Given the description of an element on the screen output the (x, y) to click on. 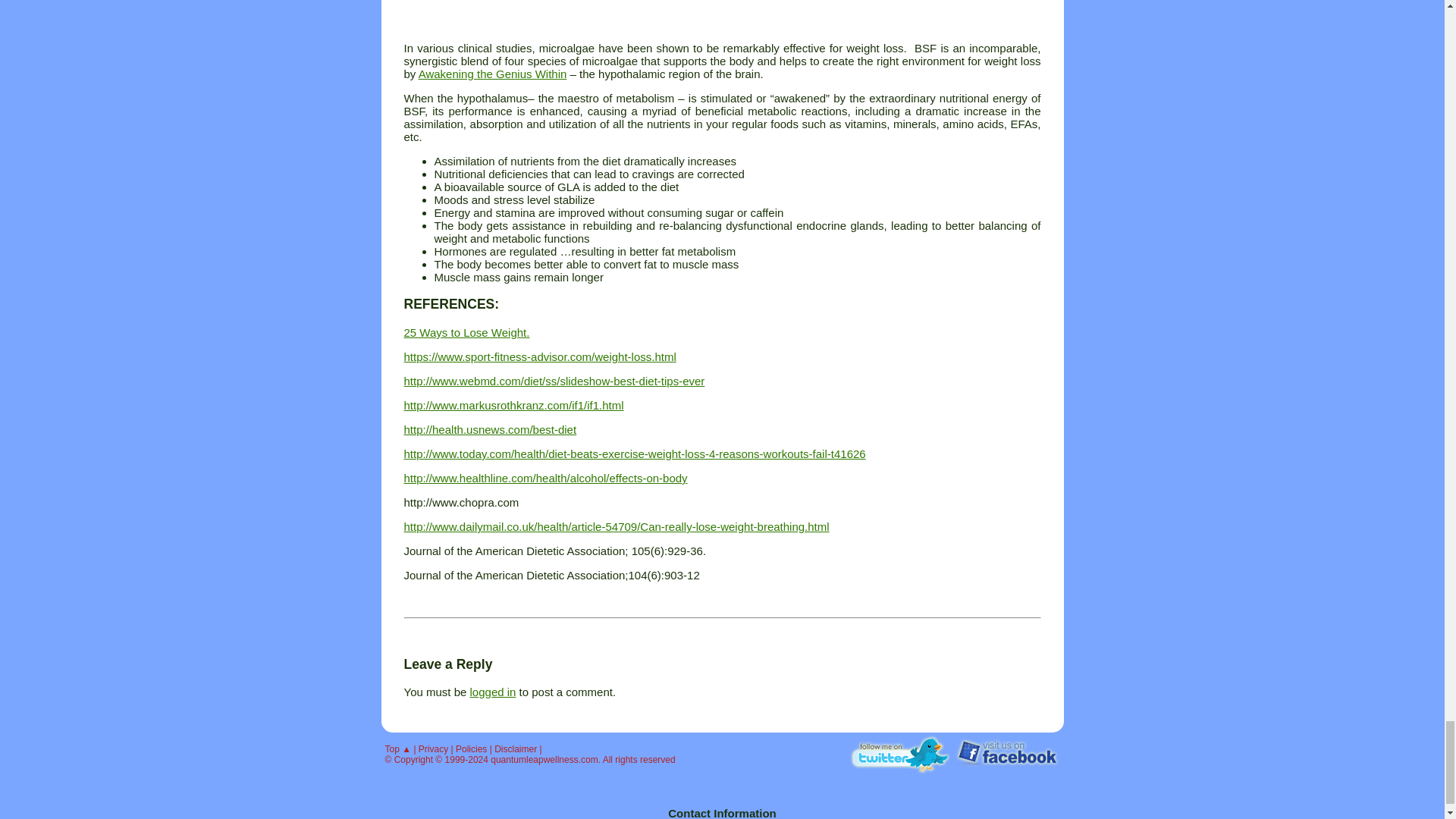
Policies (470, 748)
Disclaimer (516, 748)
Awakening the Genius Within (493, 73)
logged in (493, 691)
Privacy (433, 748)
25 Ways to Lose Weight. (466, 332)
